Given the description of an element on the screen output the (x, y) to click on. 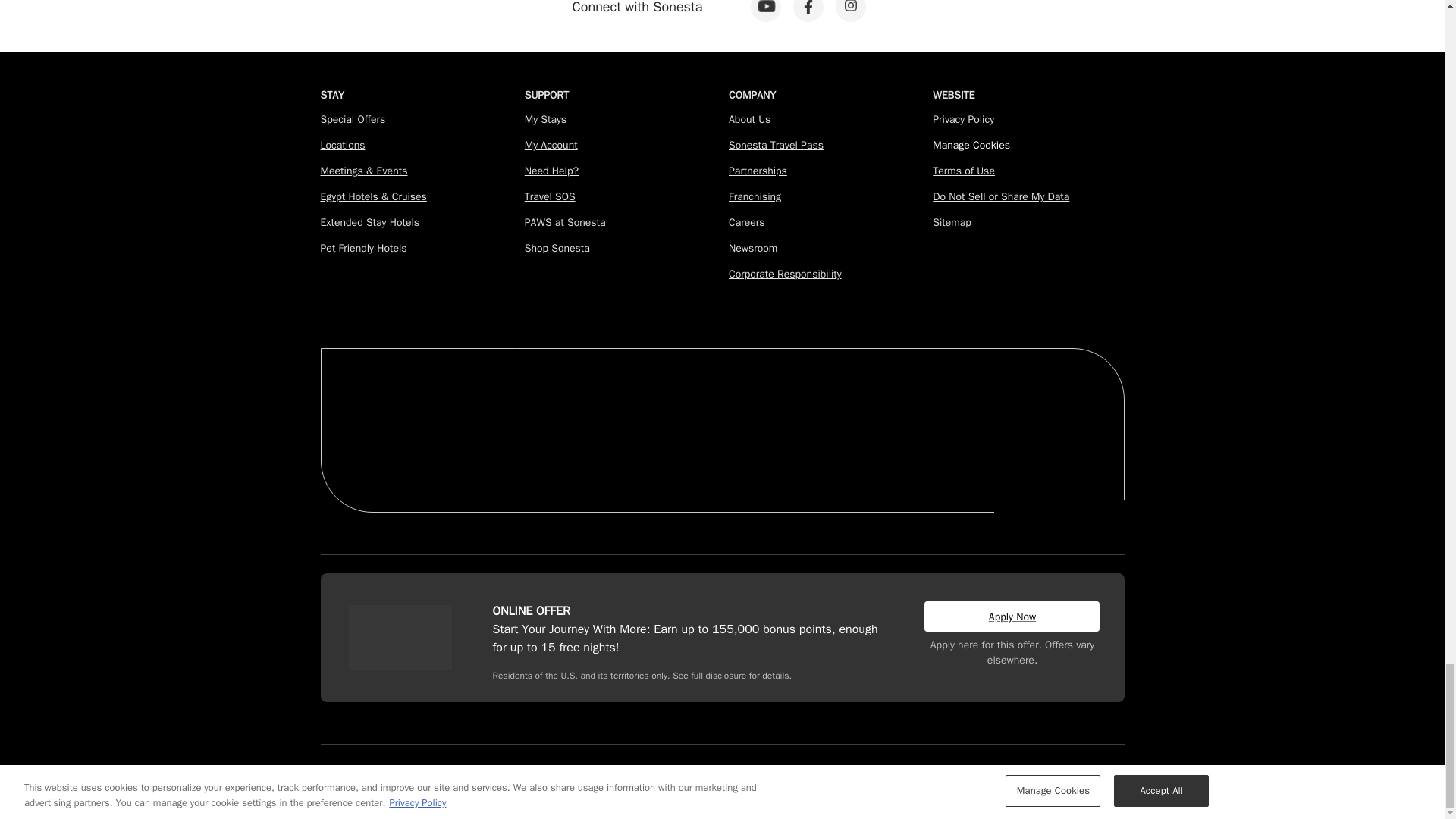
Classico Sonesta Collection (619, 402)
Red Lion Hotels (1052, 400)
Sonesta Hotels Resorts (749, 402)
Sonesta Select (946, 396)
The James Hotels (498, 407)
Mod Sonesta Collection (856, 402)
Sonesta Es Suites (398, 453)
The Royal Sonesta (390, 403)
